Given the description of an element on the screen output the (x, y) to click on. 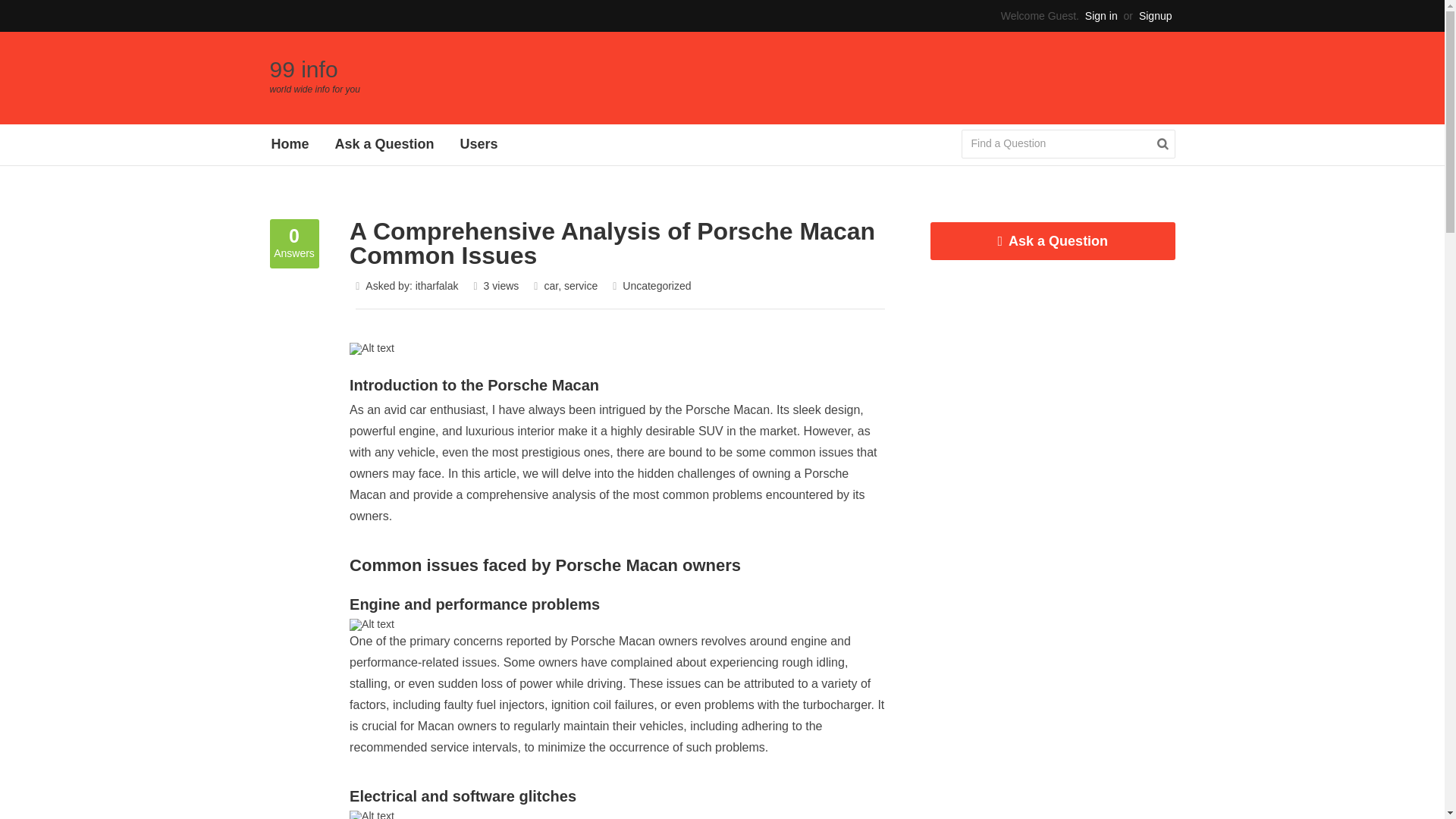
Posts by itharfalak (436, 285)
itharfalak (436, 285)
0 (293, 233)
Ask a Question (1052, 240)
Ask a Question (383, 143)
Uncategorized (656, 285)
Find a Question (1054, 143)
Signup (1154, 15)
Home (289, 143)
car (550, 285)
99 info (303, 68)
Users (478, 143)
Sign in (1101, 15)
service (580, 285)
